Given the description of an element on the screen output the (x, y) to click on. 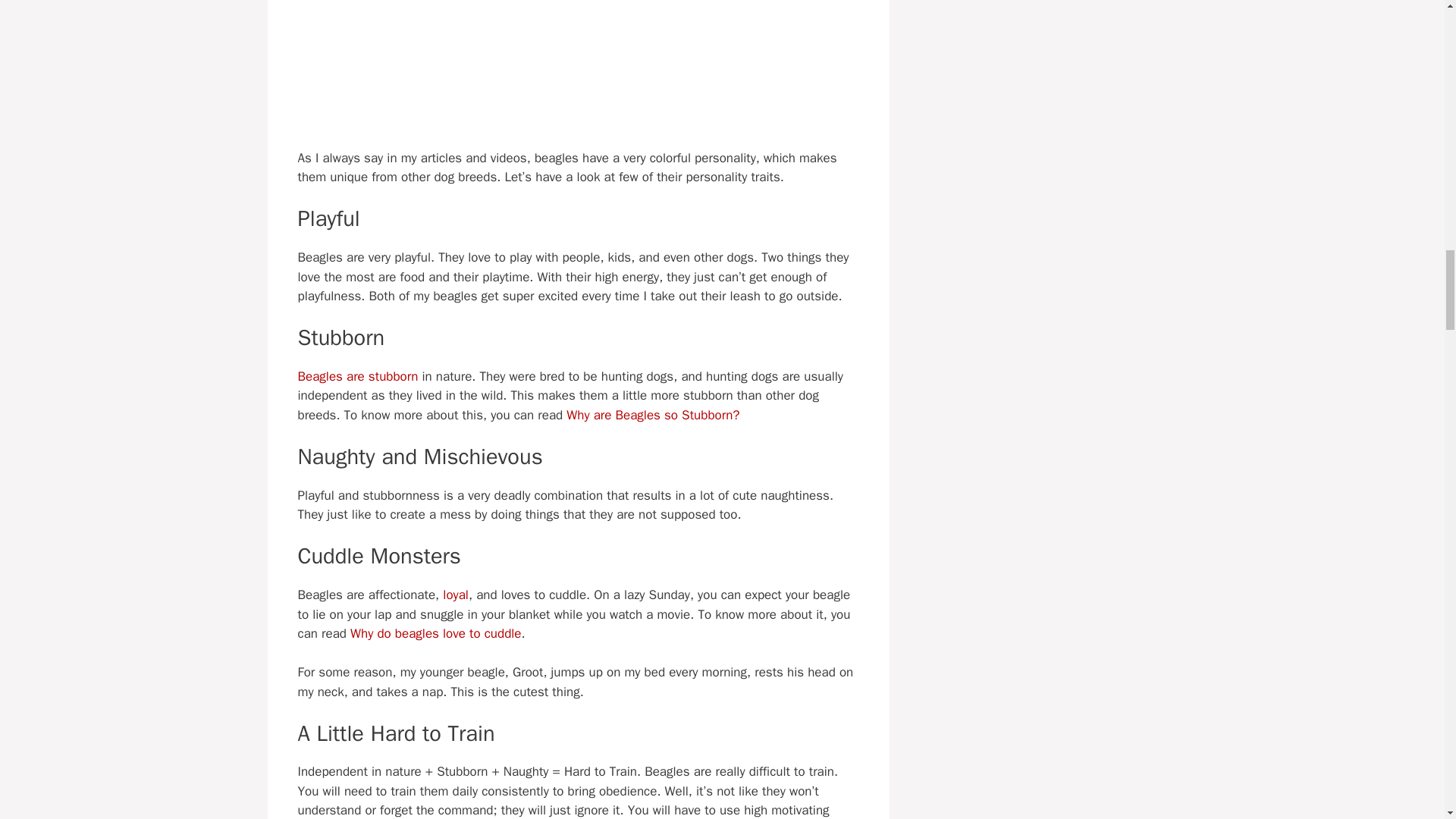
Why do beagles love to cuddle (435, 633)
Beagles are stubborn (357, 376)
Why are Beagles so Stubborn? (652, 415)
loyal (455, 594)
